Given the description of an element on the screen output the (x, y) to click on. 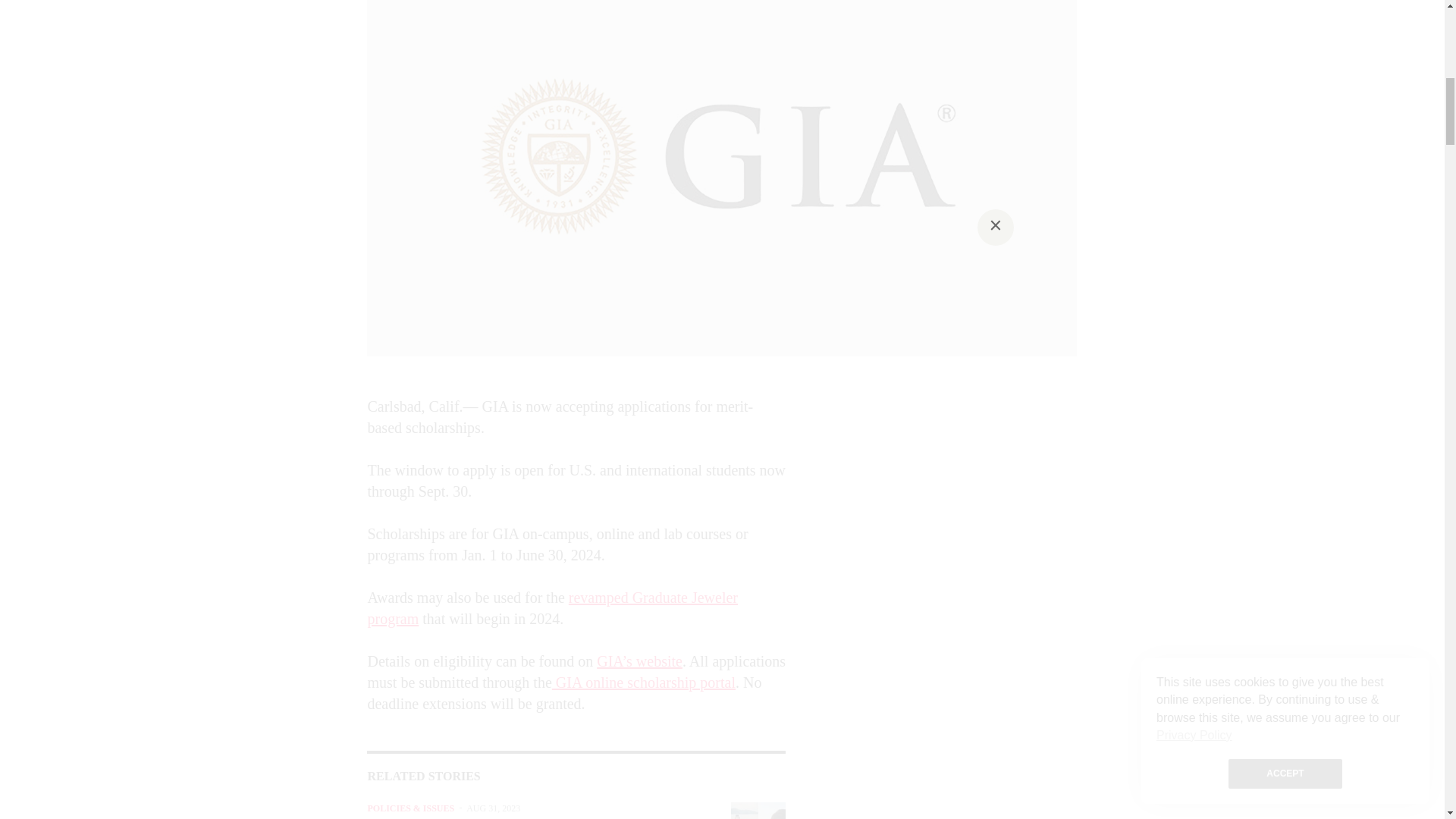
3rd party ad content (940, 490)
